Given the description of an element on the screen output the (x, y) to click on. 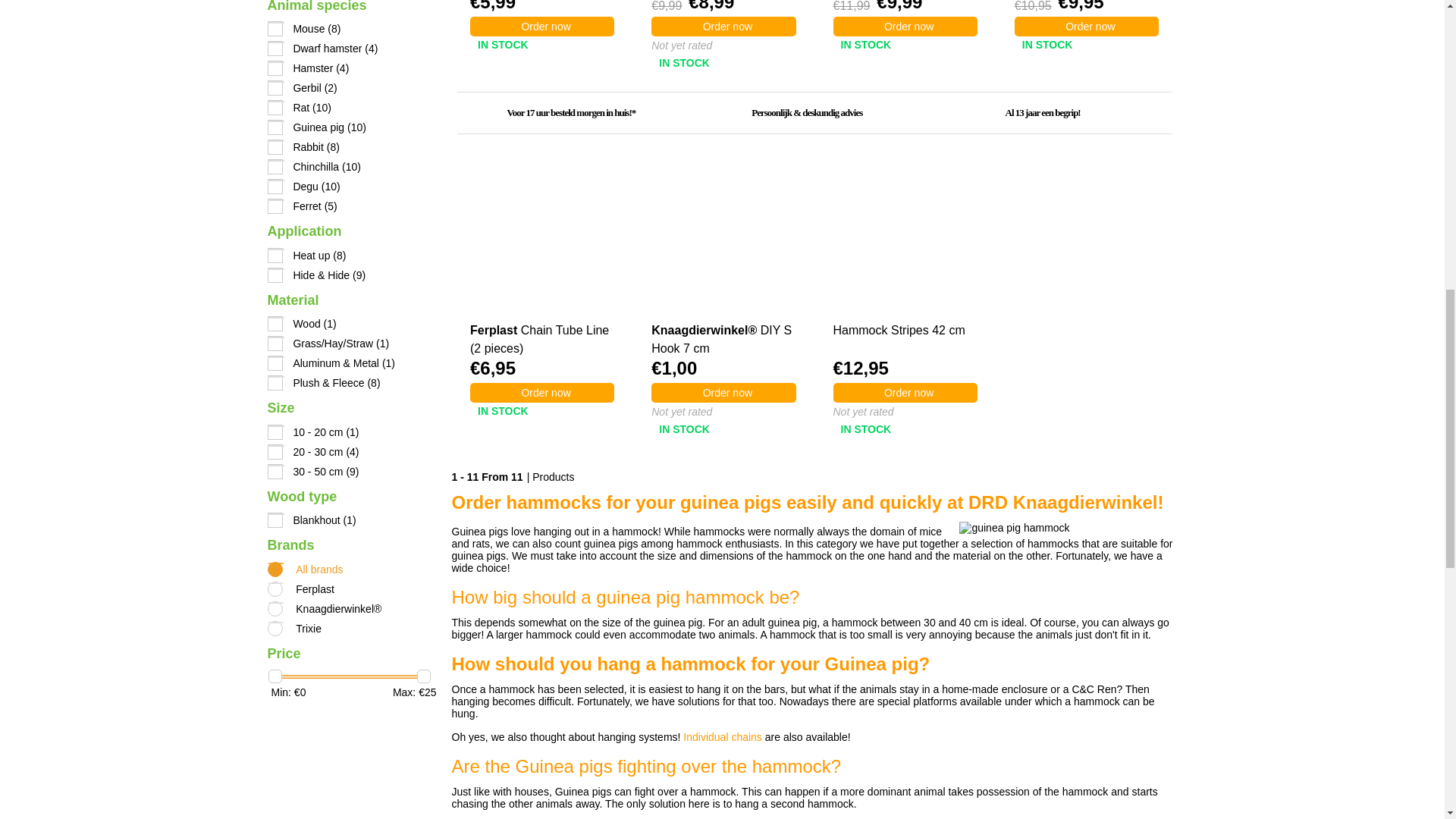
897899 (274, 127)
897898 (274, 107)
897927 (274, 363)
897896 (274, 68)
897942 (274, 451)
897903 (274, 186)
897941 (274, 432)
897897 (274, 87)
897968 (274, 273)
897922 (274, 343)
